Given the description of an element on the screen output the (x, y) to click on. 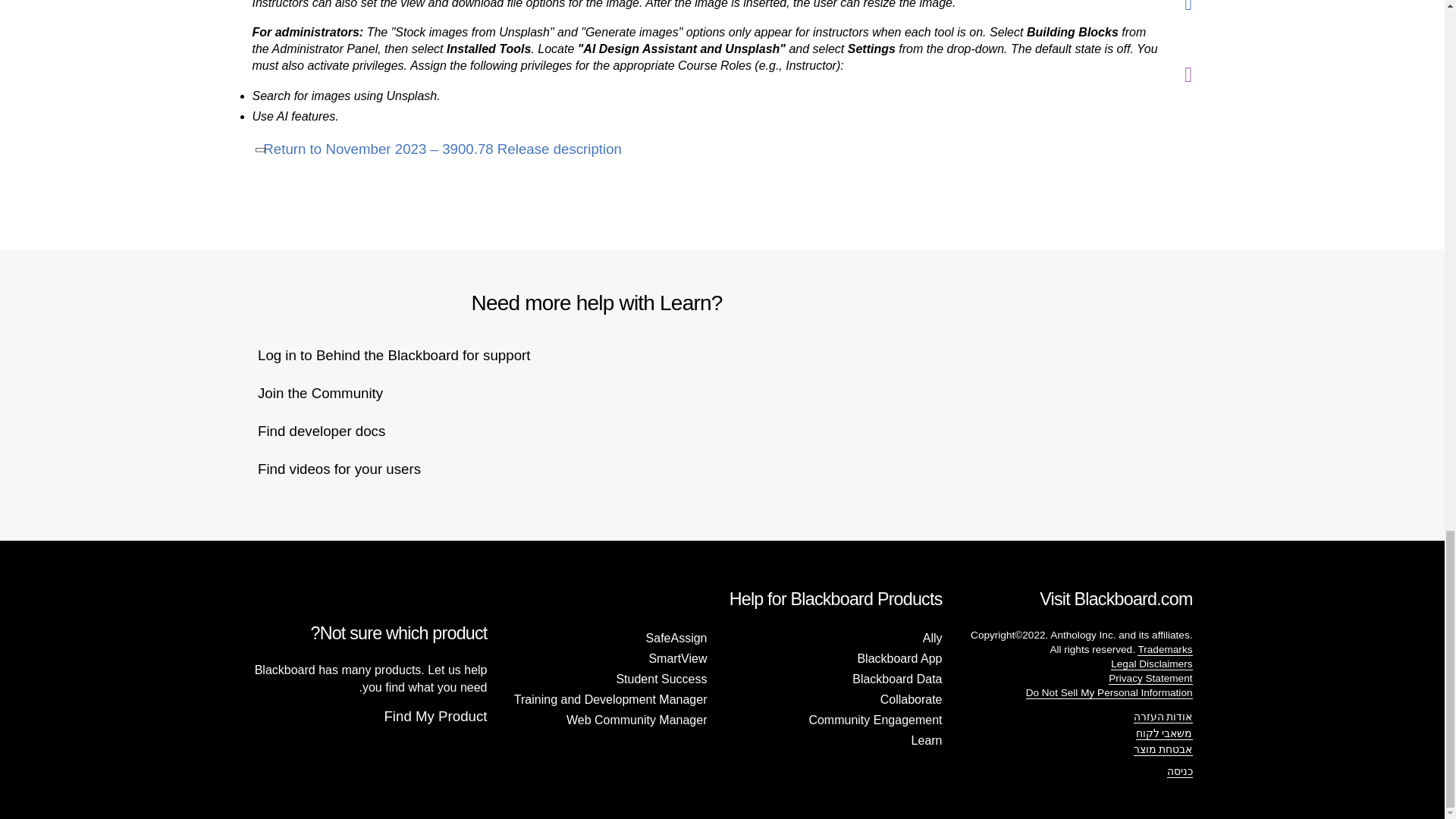
Trademarks (330, 431)
Visit Blackboard.com (403, 354)
